Given the description of an element on the screen output the (x, y) to click on. 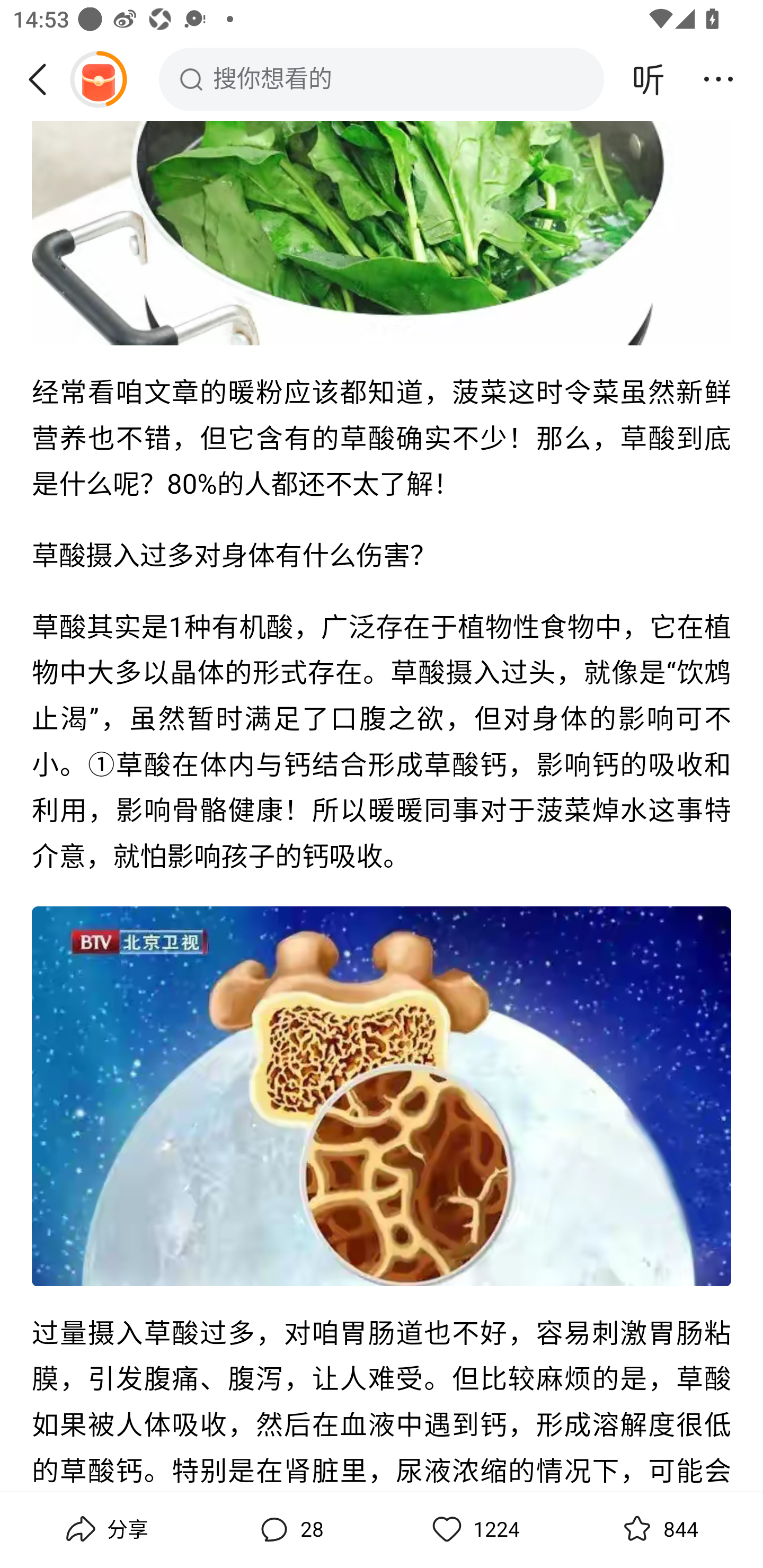
返回 (44, 78)
听头条 (648, 78)
更多操作 (718, 78)
搜你想看的 搜索框，搜你想看的 (381, 79)
阅读赚金币 (98, 79)
图片，点击识别内容 (381, 233)
图片，点击识别内容 (381, 1096)
分享 (104, 1529)
评论,28 28 (288, 1529)
收藏,844 844 (658, 1529)
